Given the description of an element on the screen output the (x, y) to click on. 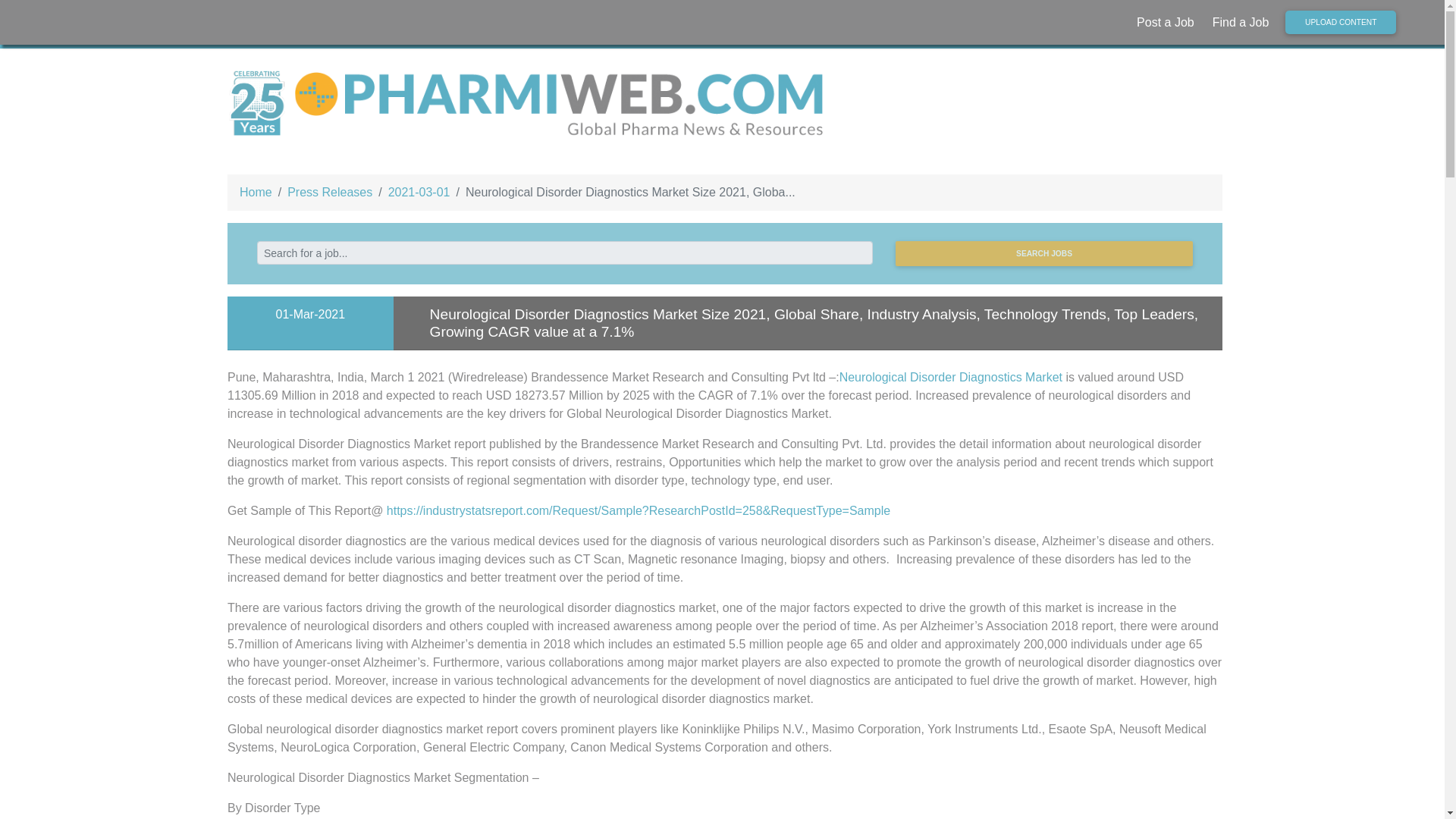
UPLOAD CONTENT (1340, 22)
Neurological Disorder Diagnostics Market (951, 377)
SEARCH JOBS (1043, 253)
Post a Job (1169, 22)
Press Releases (329, 192)
Home (256, 192)
Find a Job (1244, 22)
2021-03-01 (418, 192)
